Given the description of an element on the screen output the (x, y) to click on. 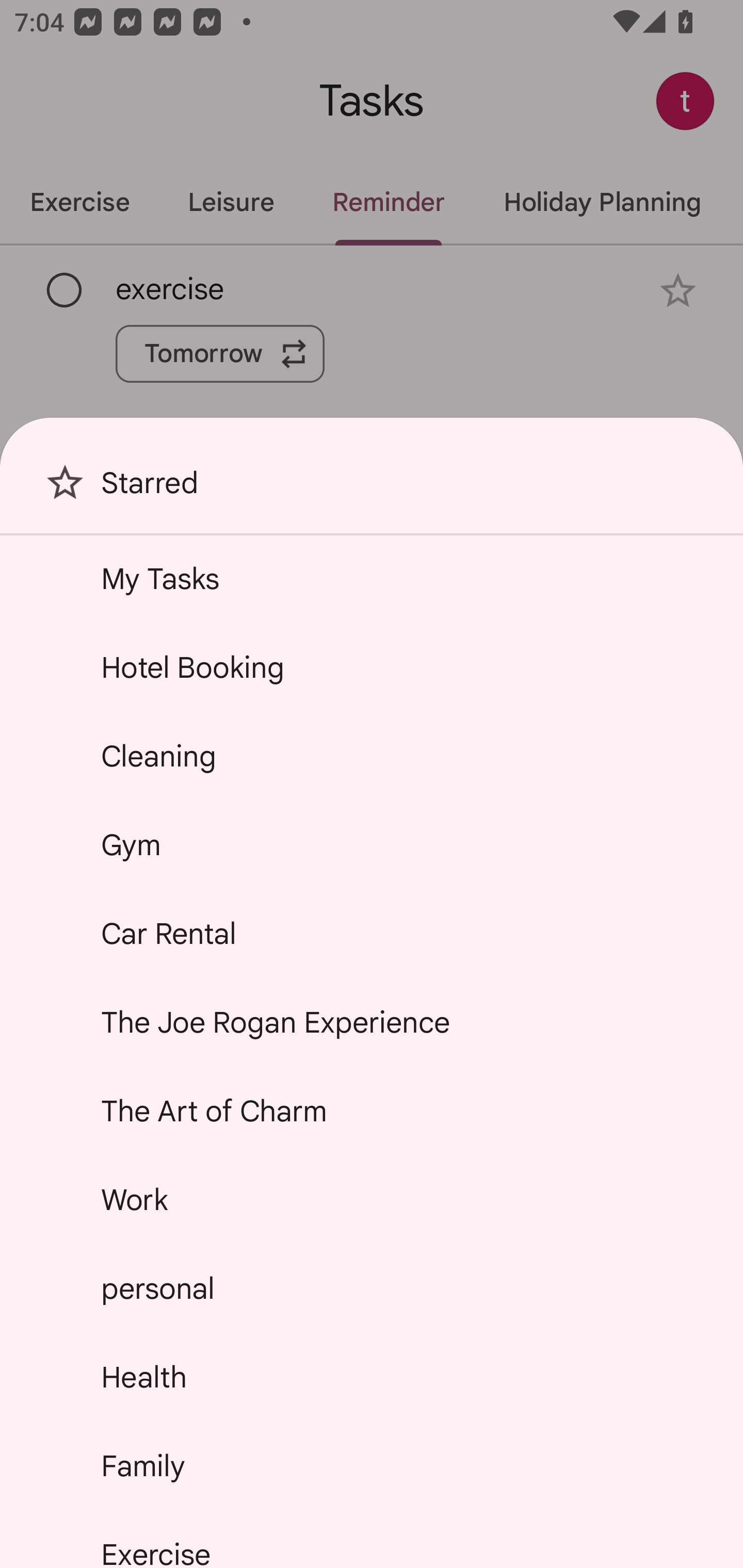
Starred (371, 489)
My Tasks (371, 578)
Hotel Booking (371, 667)
Cleaning (371, 756)
Gym (371, 844)
Car Rental (371, 933)
The Joe Rogan Experience (371, 1022)
The Art of Charm (371, 1110)
Work (371, 1200)
personal (371, 1287)
Health (371, 1377)
Family (371, 1465)
Exercise (371, 1539)
